Given the description of an element on the screen output the (x, y) to click on. 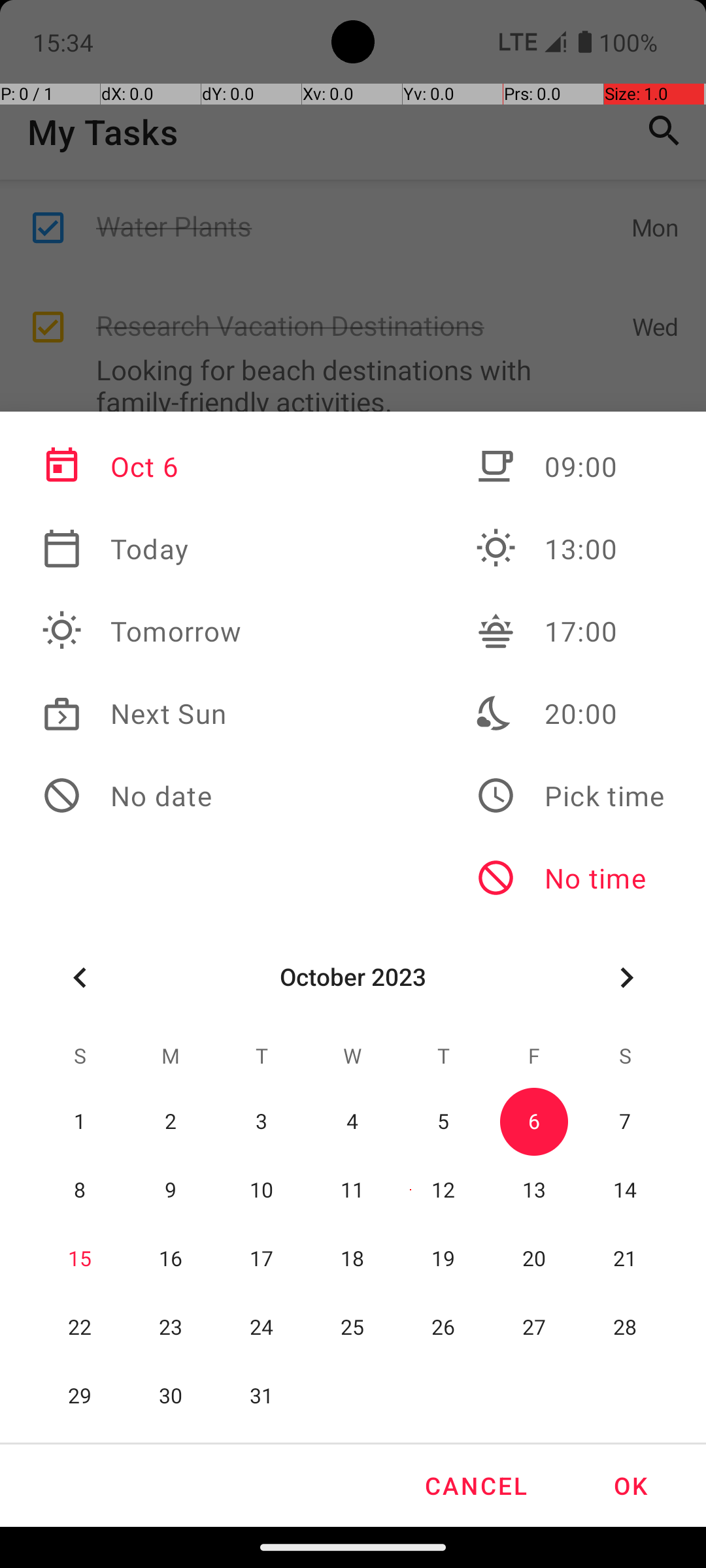
Oct 6 Element type: android.widget.CompoundButton (141, 466)
